Given the description of an element on the screen output the (x, y) to click on. 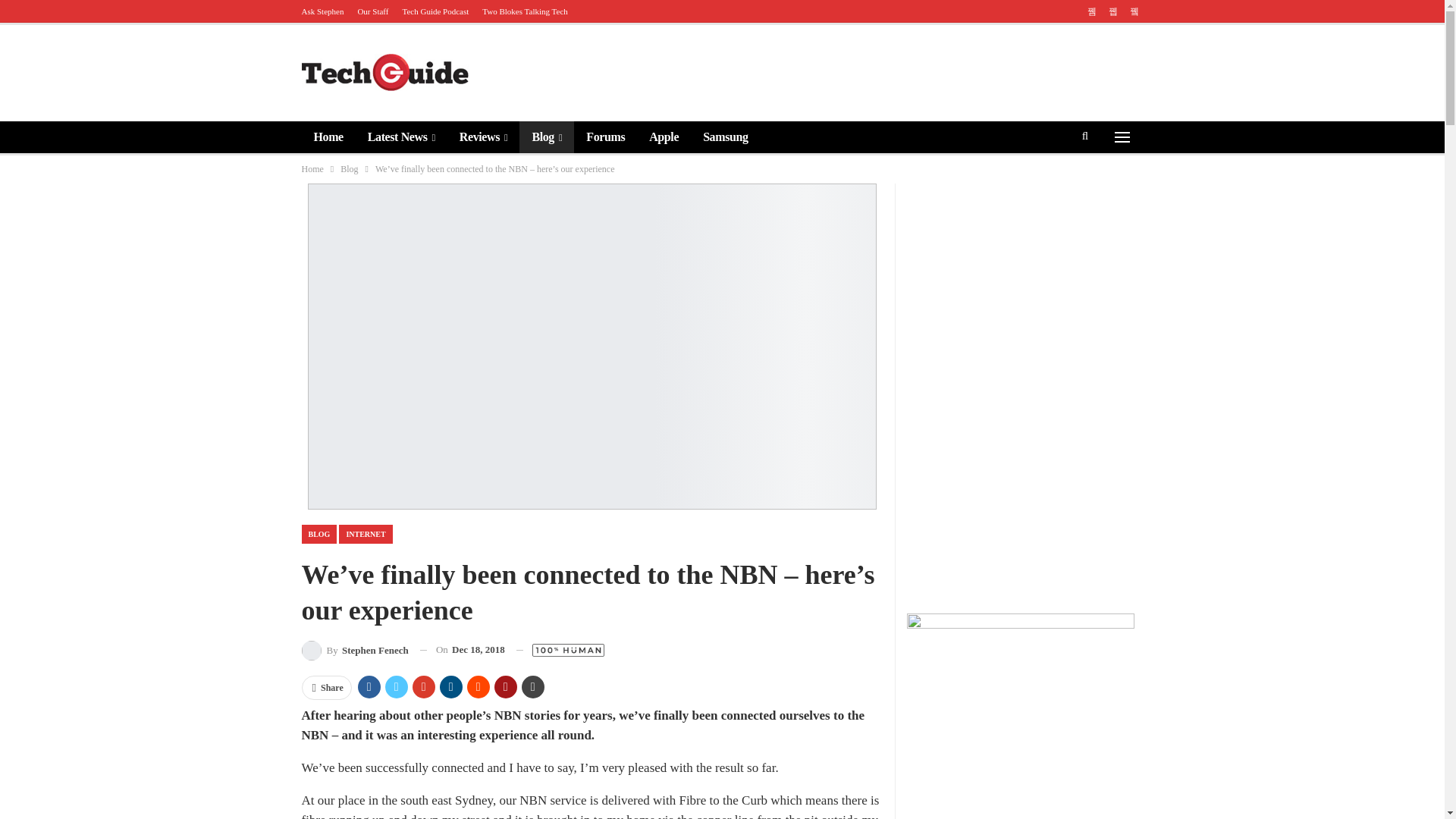
Home (328, 137)
Browse Author Articles (355, 649)
Tech Guide Podcast (434, 10)
Two Blokes Talking Tech (524, 10)
Latest News (400, 137)
Ask Stephen (322, 10)
Our Staff (372, 10)
